Given the description of an element on the screen output the (x, y) to click on. 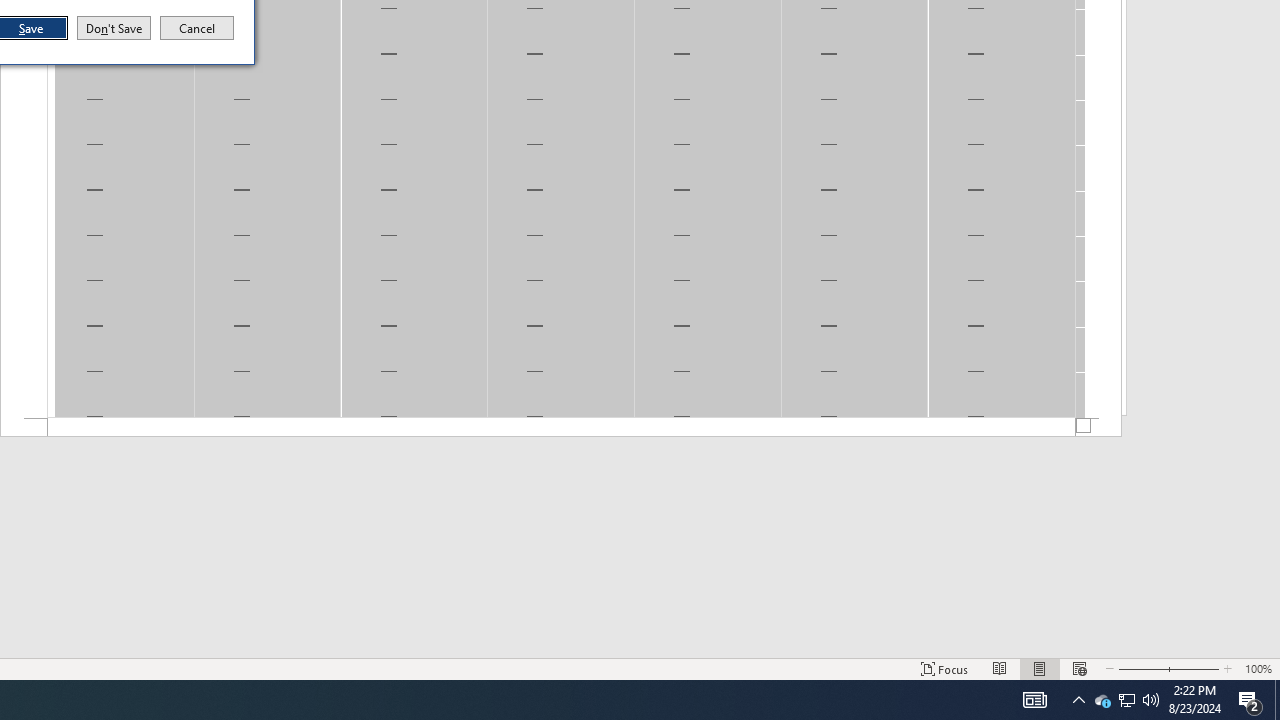
Action Center, 2 new notifications (1250, 699)
Cancel (197, 27)
Show desktop (1277, 699)
Footer -Section 1- (561, 427)
Notification Chevron (1078, 699)
AutomationID: 4105 (1034, 699)
